Given the description of an element on the screen output the (x, y) to click on. 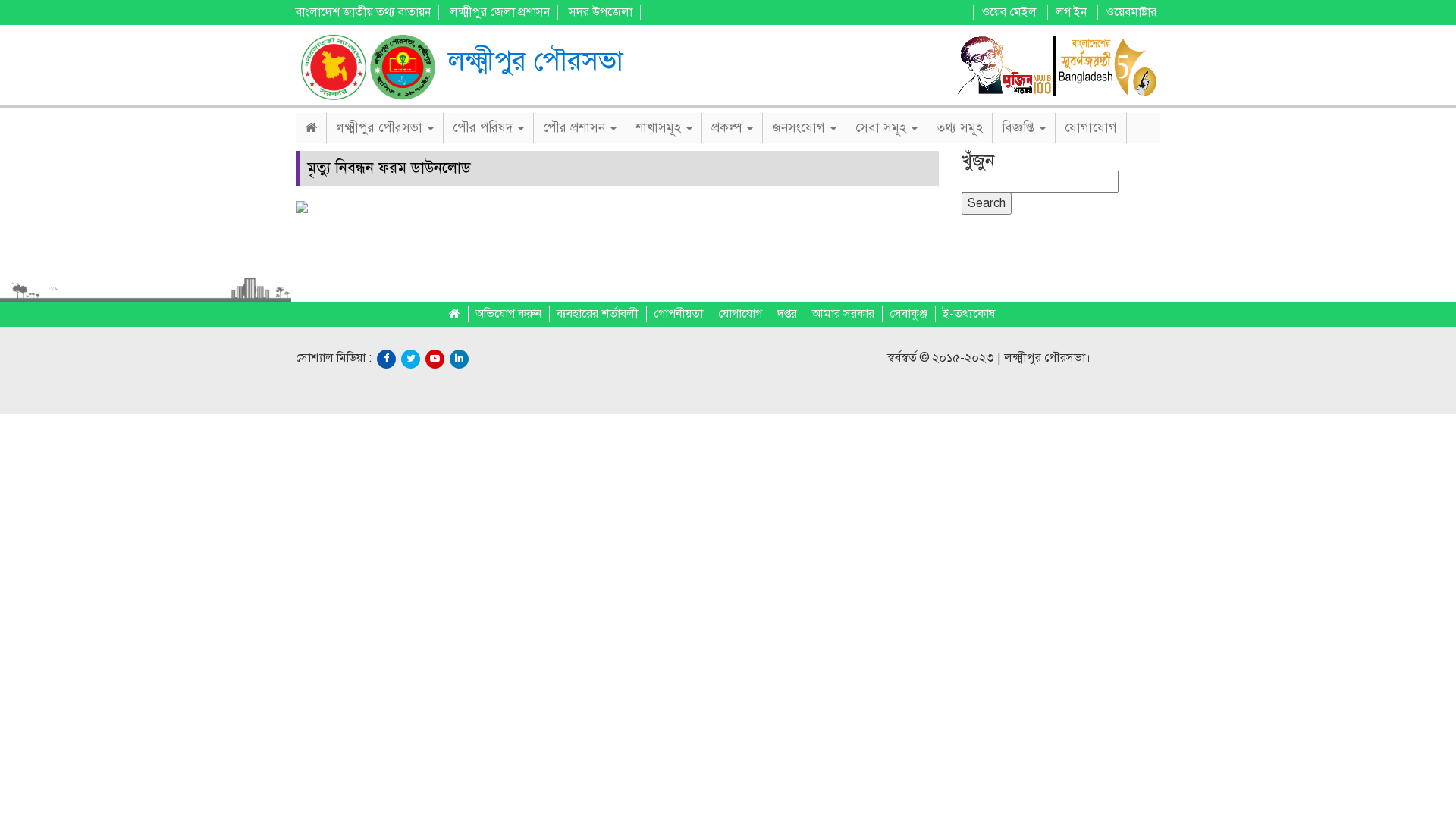
Search Element type: text (986, 203)
